Given the description of an element on the screen output the (x, y) to click on. 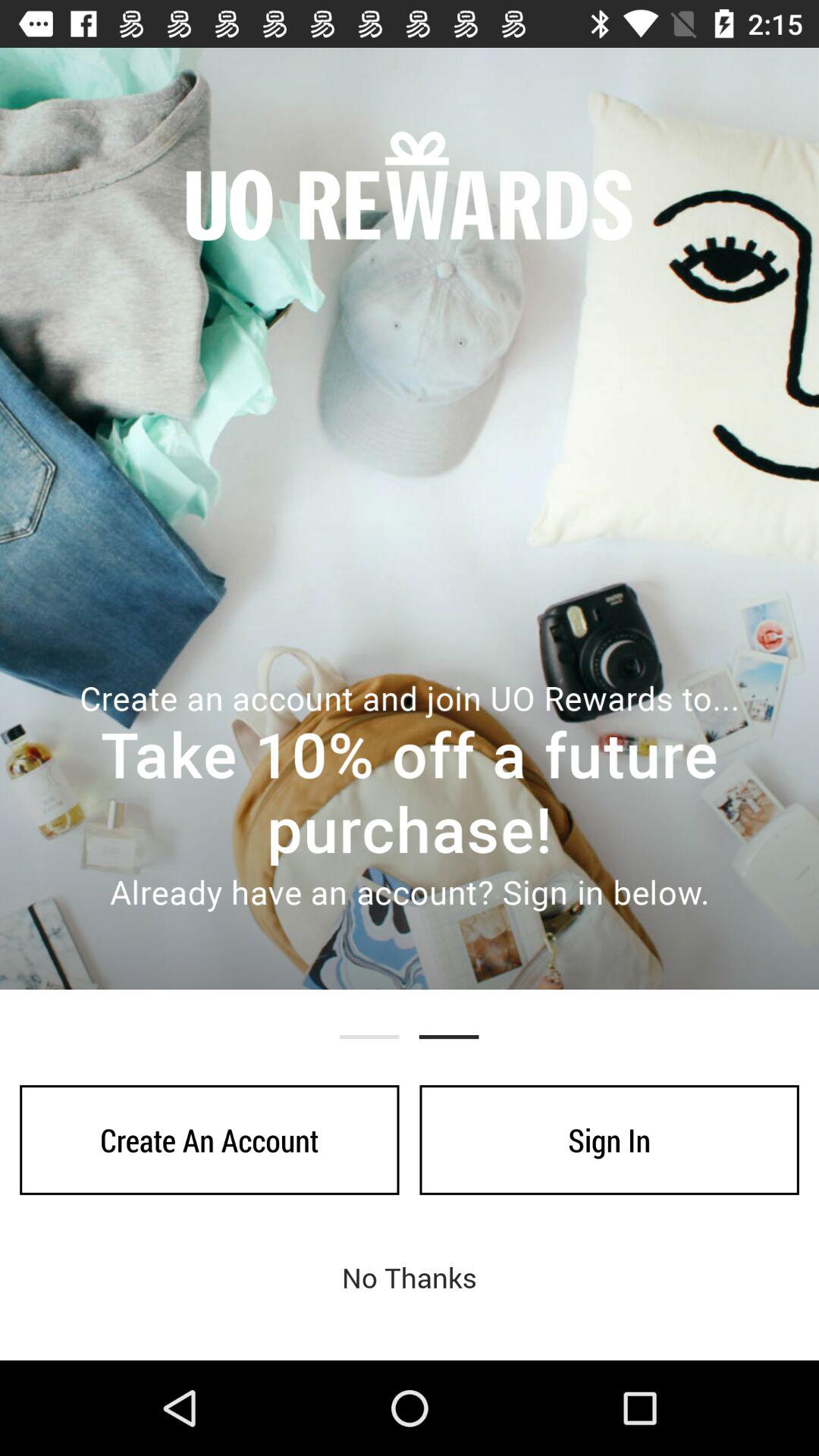
turn on create an account (209, 1139)
